Given the description of an element on the screen output the (x, y) to click on. 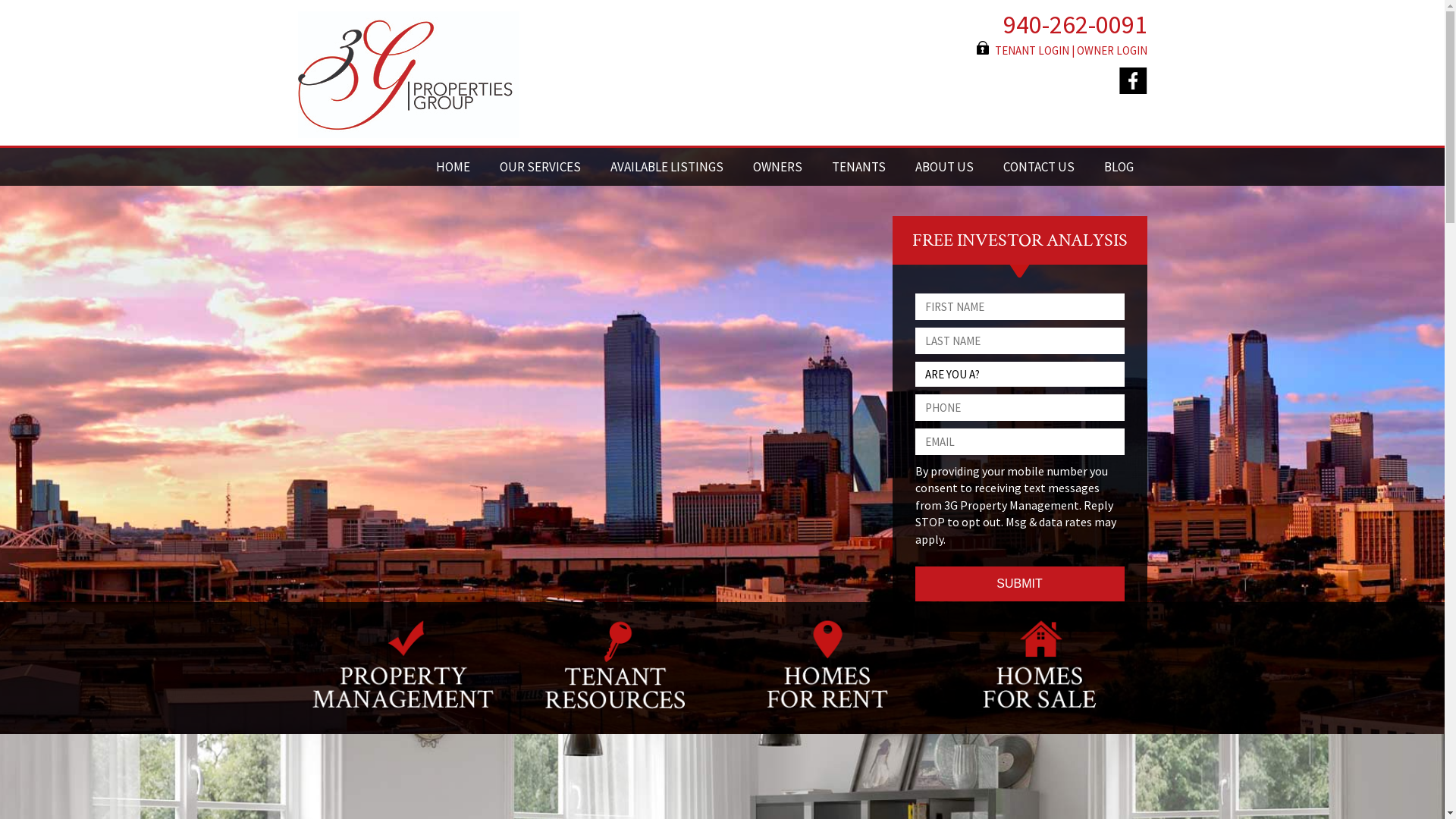
CONTACT US Element type: text (1037, 166)
SUBMIT Element type: text (1018, 583)
TENANT LOGIN Element type: text (1031, 50)
HOME Element type: text (452, 166)
AVAILABLE LISTINGS Element type: text (666, 166)
OWNER LOGIN Element type: text (1111, 50)
TENANTS Element type: text (857, 166)
ABOUT US Element type: text (943, 166)
BLOG Element type: text (1118, 166)
OWNERS Element type: text (776, 166)
OUR SERVICES Element type: text (539, 166)
